Given the description of an element on the screen output the (x, y) to click on. 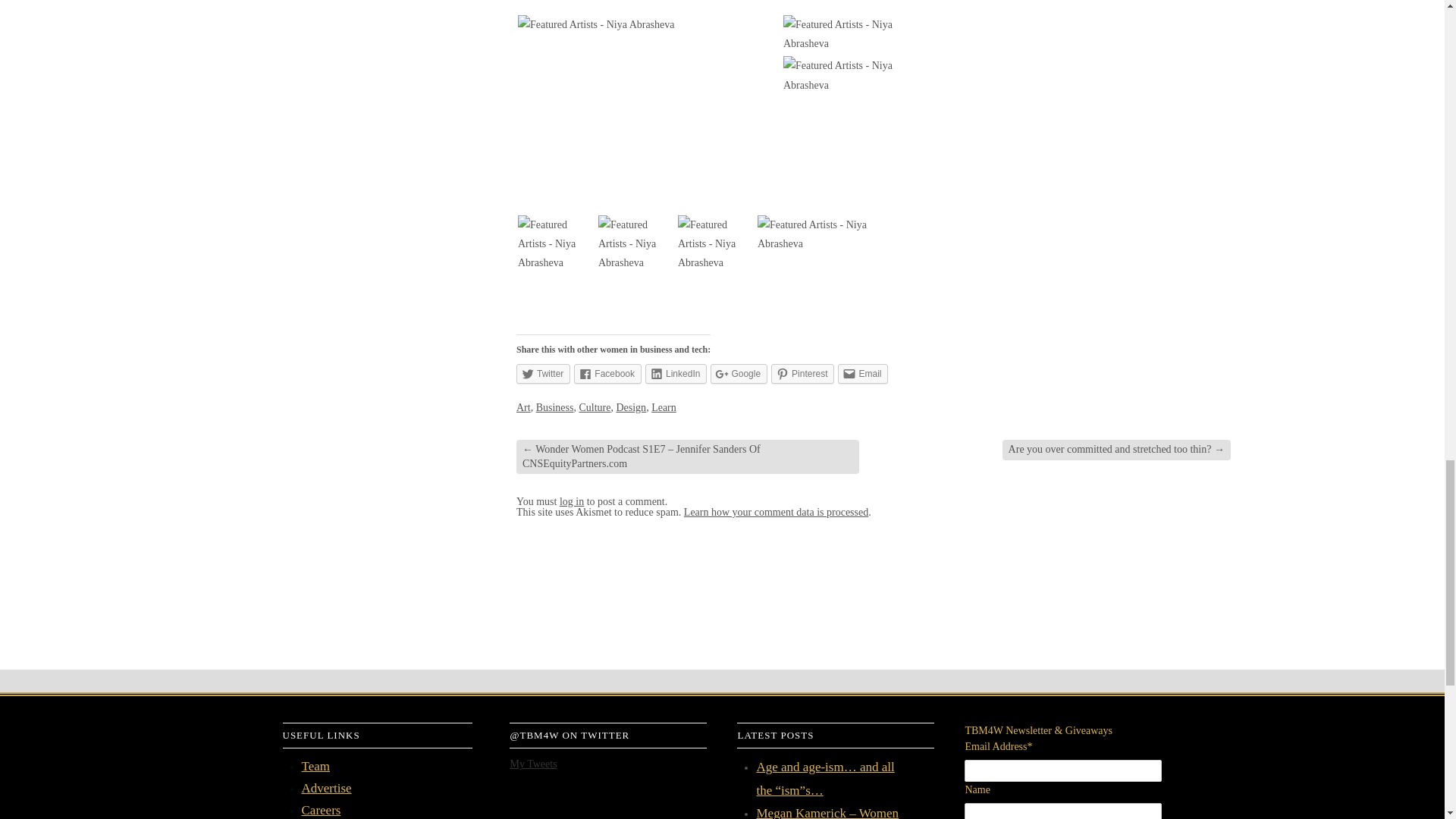
Facebook (607, 373)
Featured Artists - Niya Abrasheva (596, 24)
Featured Artists - Niya Abrasheva (825, 234)
Click to share on LinkedIn (675, 373)
Design (630, 407)
Business (554, 407)
Pinterest (802, 373)
Featured Artists - Niya Abrasheva (636, 243)
Email (863, 373)
Featured Artists - Niya Abrasheva (838, 75)
Featured Artists - Niya Abrasheva (716, 243)
Featured Artists - Niya Abrasheva (556, 243)
LinkedIn (675, 373)
Click to share on Facebook (607, 373)
Featured Artists - Niya Abrasheva (838, 34)
